Given the description of an element on the screen output the (x, y) to click on. 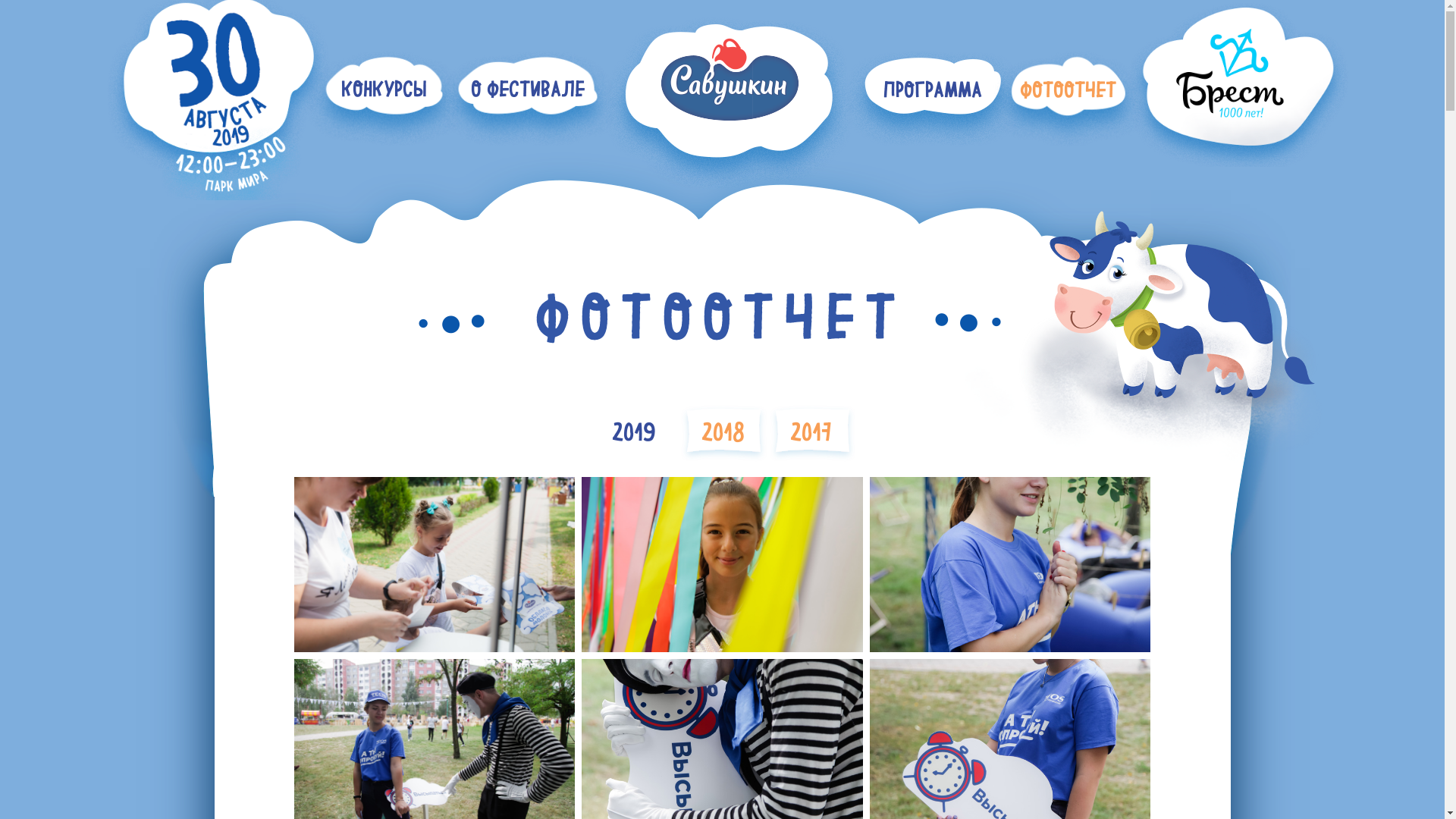
2018 Element type: text (722, 428)
2017 Element type: text (811, 428)
2019 Element type: text (633, 428)
